Given the description of an element on the screen output the (x, y) to click on. 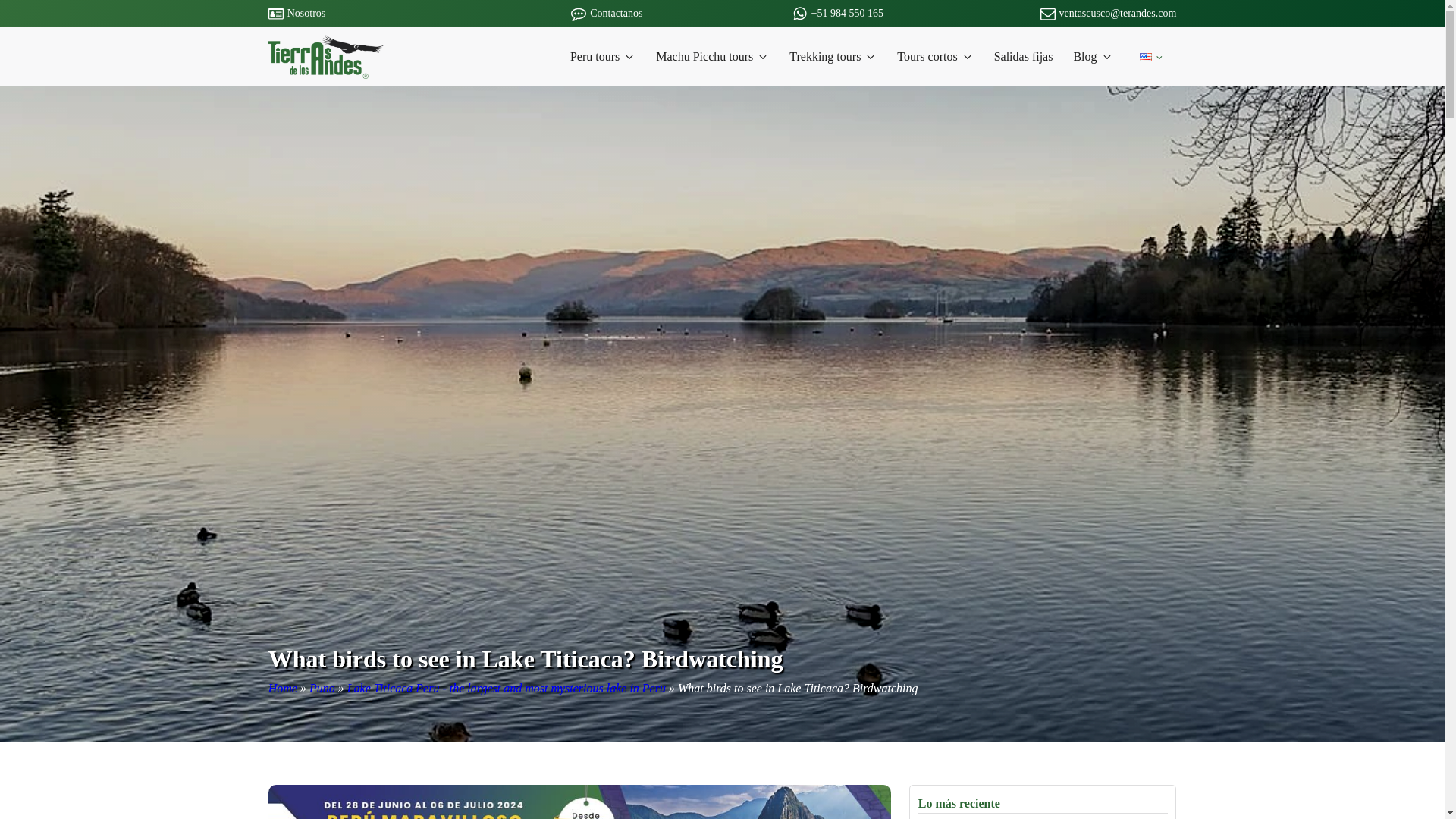
Tours cortos (936, 56)
Trekking tours (834, 56)
Peru tours (603, 56)
Nosotros (306, 13)
Contactanos (615, 13)
Machu Picchu tours (713, 56)
